Given the description of an element on the screen output the (x, y) to click on. 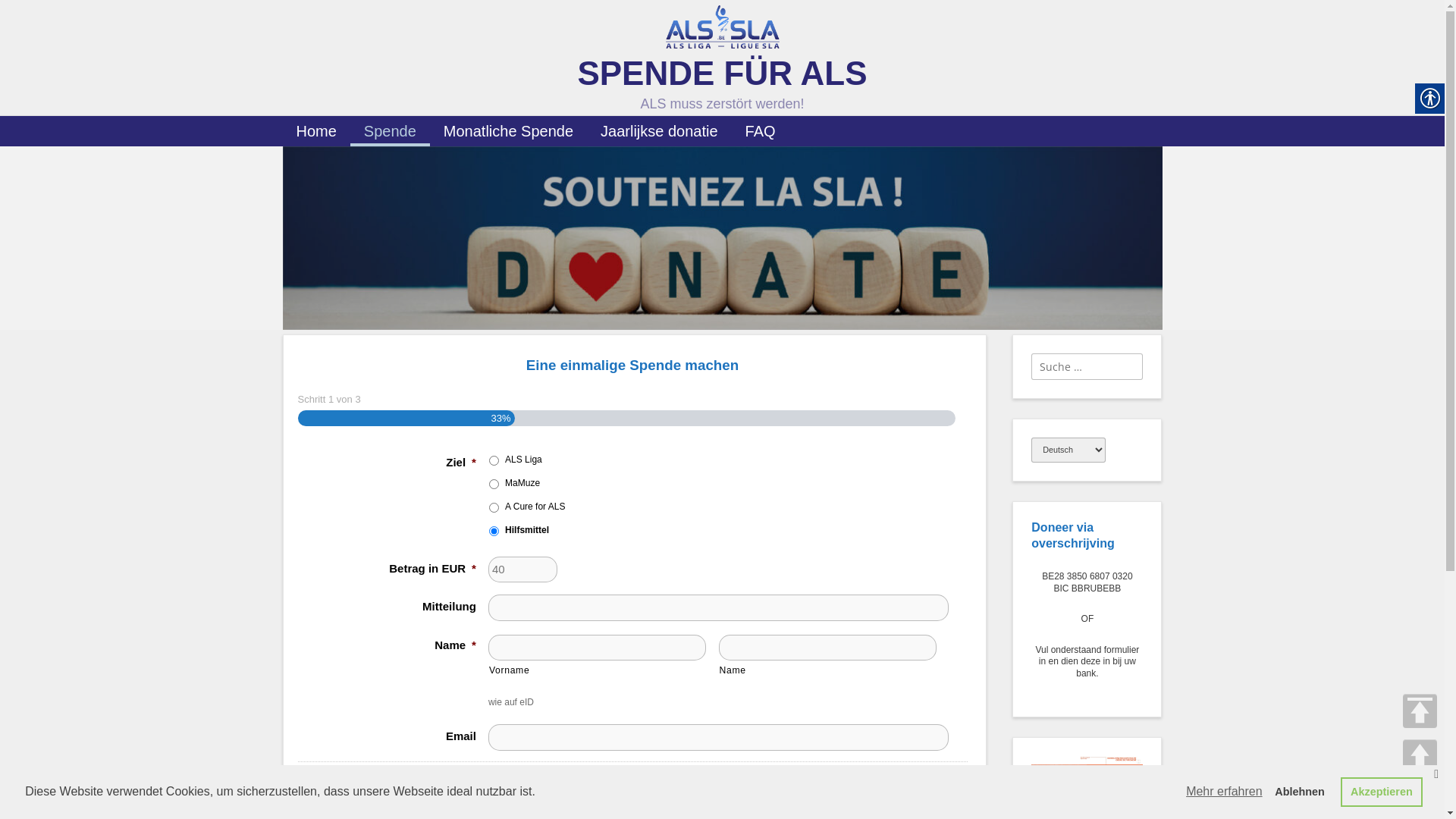
DOWN Element type: text (1419, 794)
Spende Element type: text (389, 131)
UP Element type: text (1419, 756)
Monatliche Spende Element type: text (507, 131)
Mehr erfahren Element type: text (1223, 791)
Akzeptieren Element type: text (1381, 791)
FAQ Element type: text (760, 131)
TOP Element type: text (1419, 710)
Suche Element type: text (25, 13)
Ablehnen Element type: text (1299, 791)
Weiter Element type: text (725, 788)
Home Element type: text (315, 131)
Jaarlijkse donatie Element type: text (658, 131)
